Given the description of an element on the screen output the (x, y) to click on. 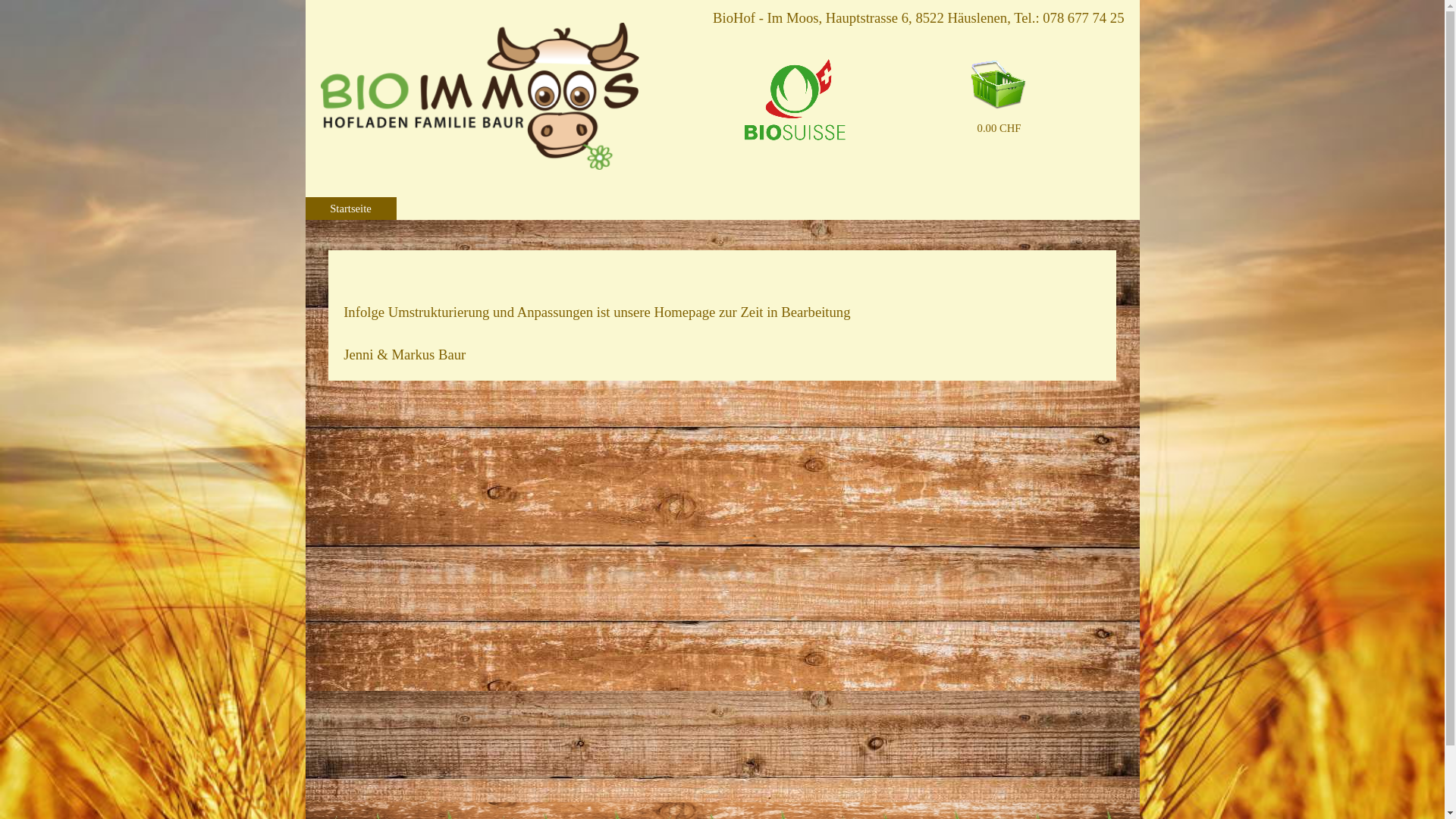
Startseite Element type: text (350, 208)
